Given the description of an element on the screen output the (x, y) to click on. 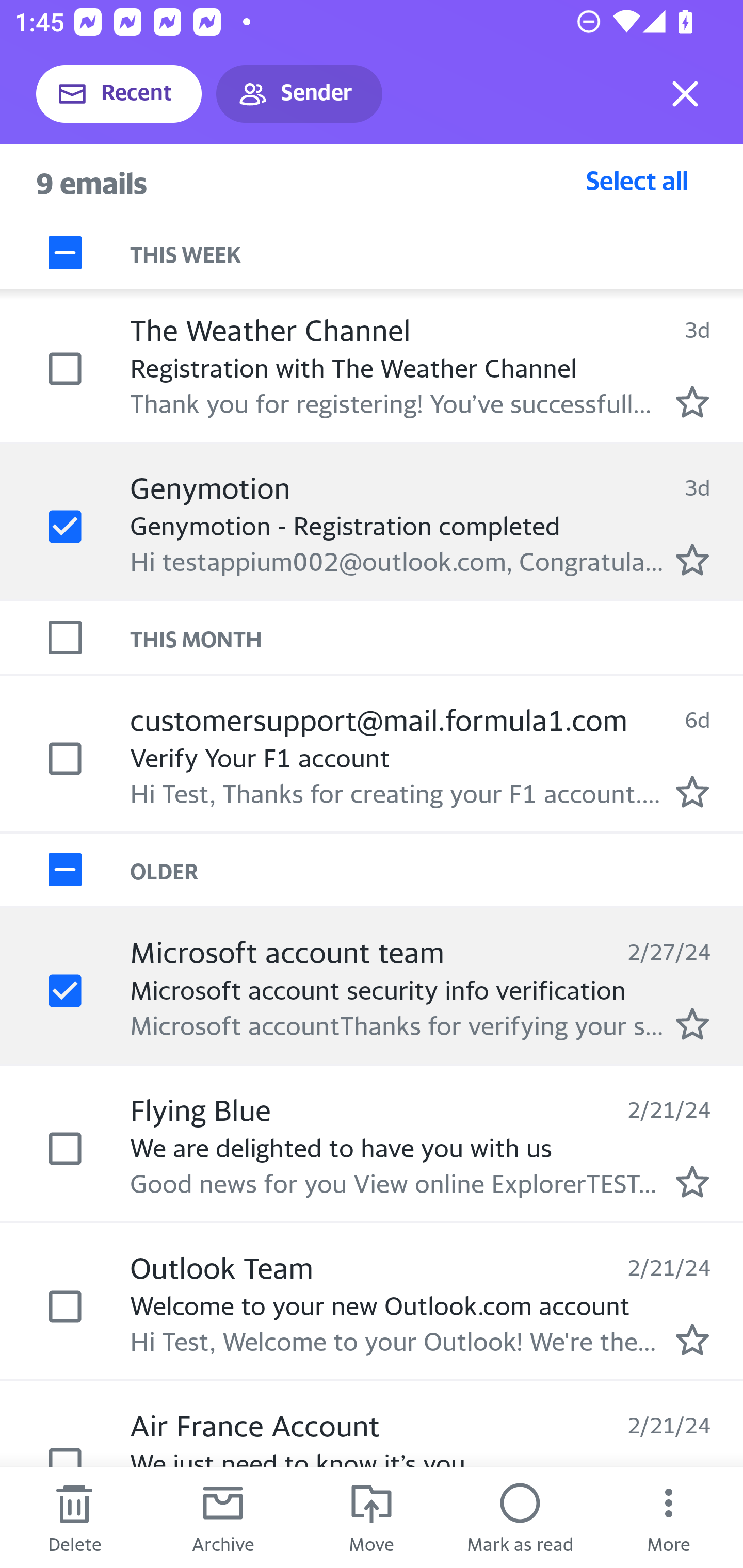
Sender (299, 93)
Exit selection mode (684, 93)
Select all (637, 180)
Mark as starred. (692, 402)
Mark as starred. (692, 558)
THIS MONTH (436, 637)
Mark as starred. (692, 791)
OLDER (436, 869)
Mark as starred. (692, 1023)
Mark as starred. (692, 1181)
Mark as starred. (692, 1339)
Delete (74, 1517)
Archive (222, 1517)
Move (371, 1517)
Mark as read (519, 1517)
More (668, 1517)
